Given the description of an element on the screen output the (x, y) to click on. 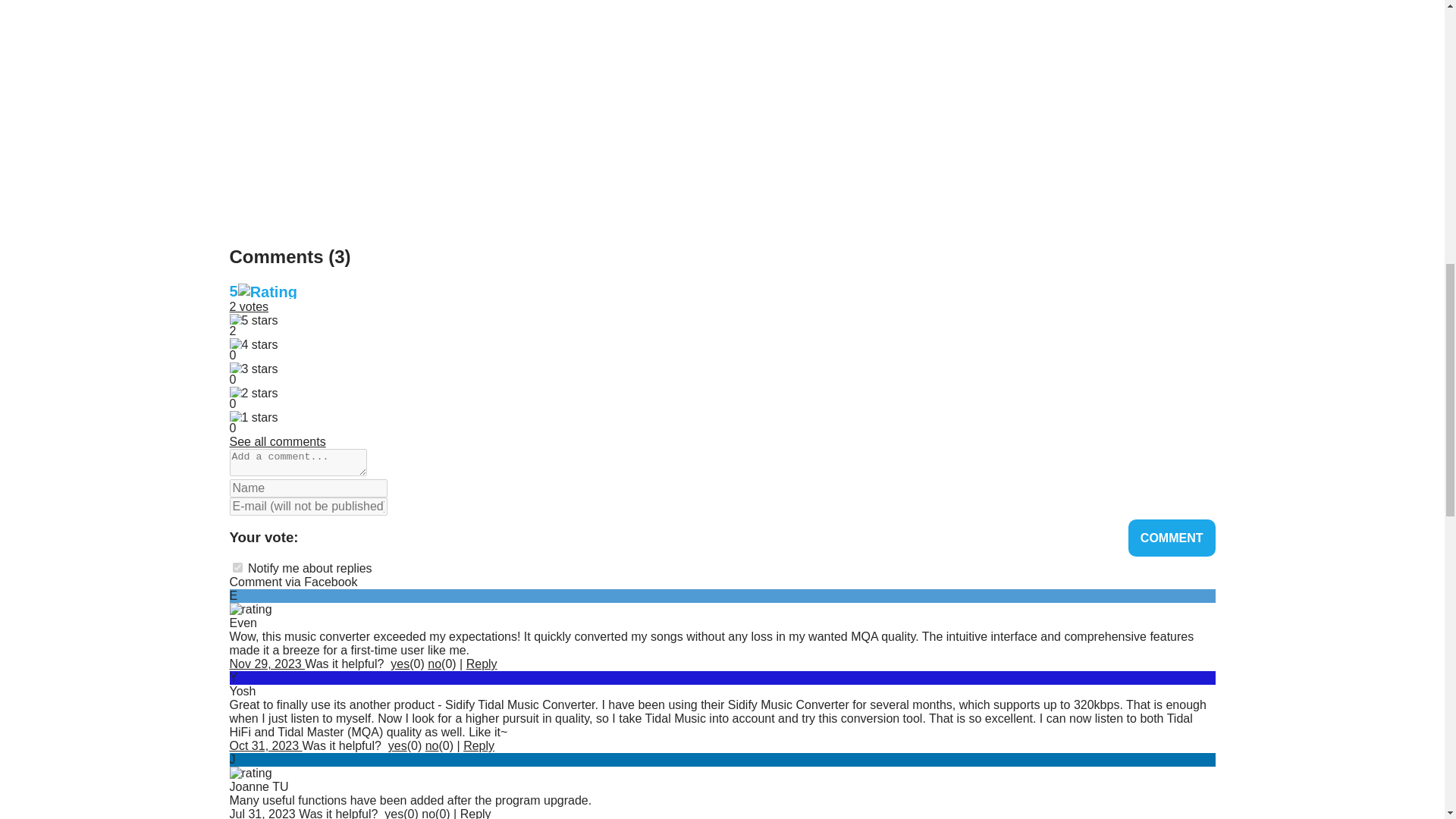
1 (236, 567)
no (434, 663)
Comment (1171, 537)
yes (399, 663)
1 (310, 536)
2 (335, 536)
5 (408, 536)
Comment (1171, 537)
See all comments (276, 441)
4 (383, 536)
